Given the description of an element on the screen output the (x, y) to click on. 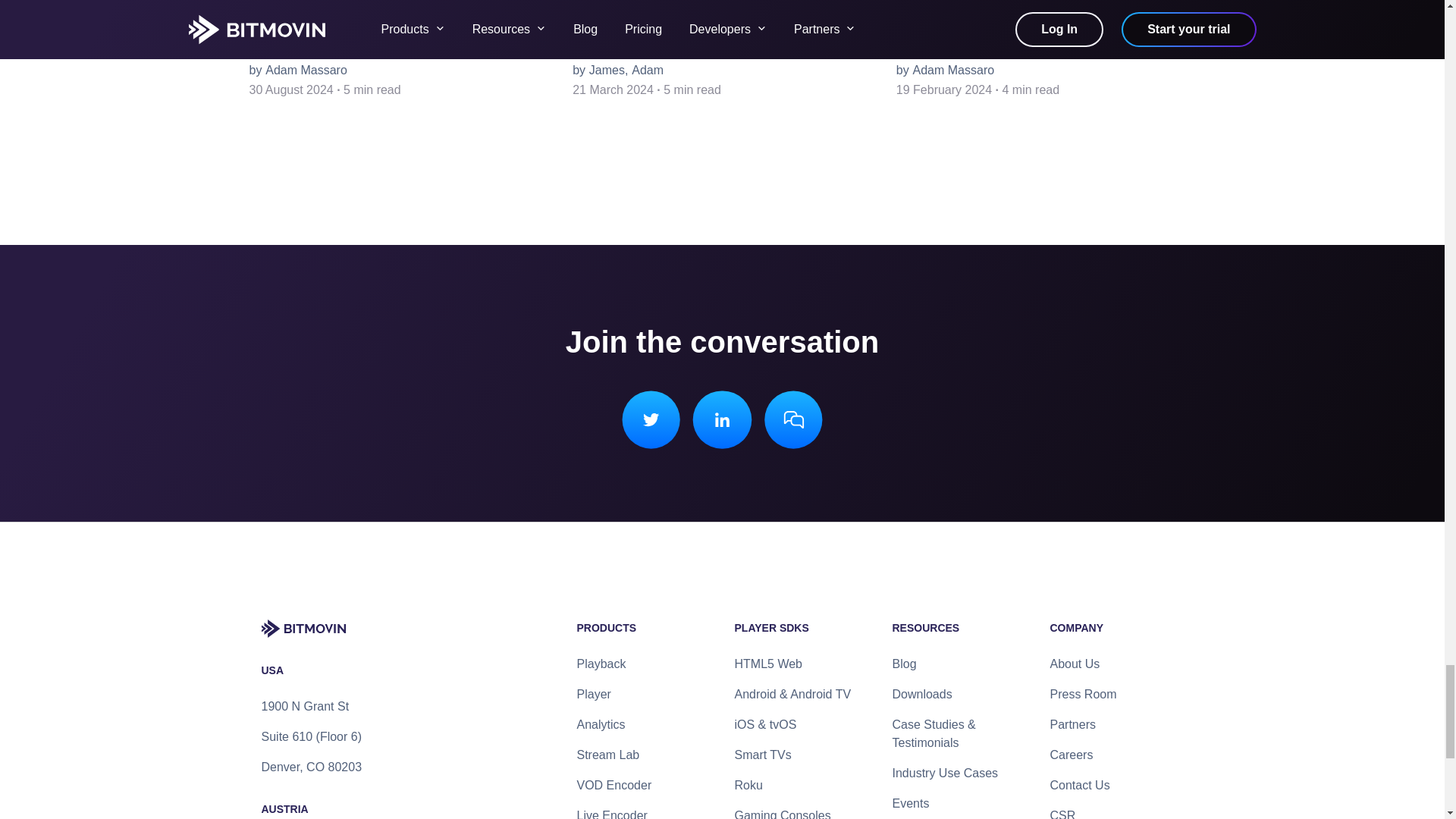
James Varndell (606, 69)
Adam Massaro (305, 69)
Adam Massaro (647, 69)
Adam Massaro (953, 69)
